Given the description of an element on the screen output the (x, y) to click on. 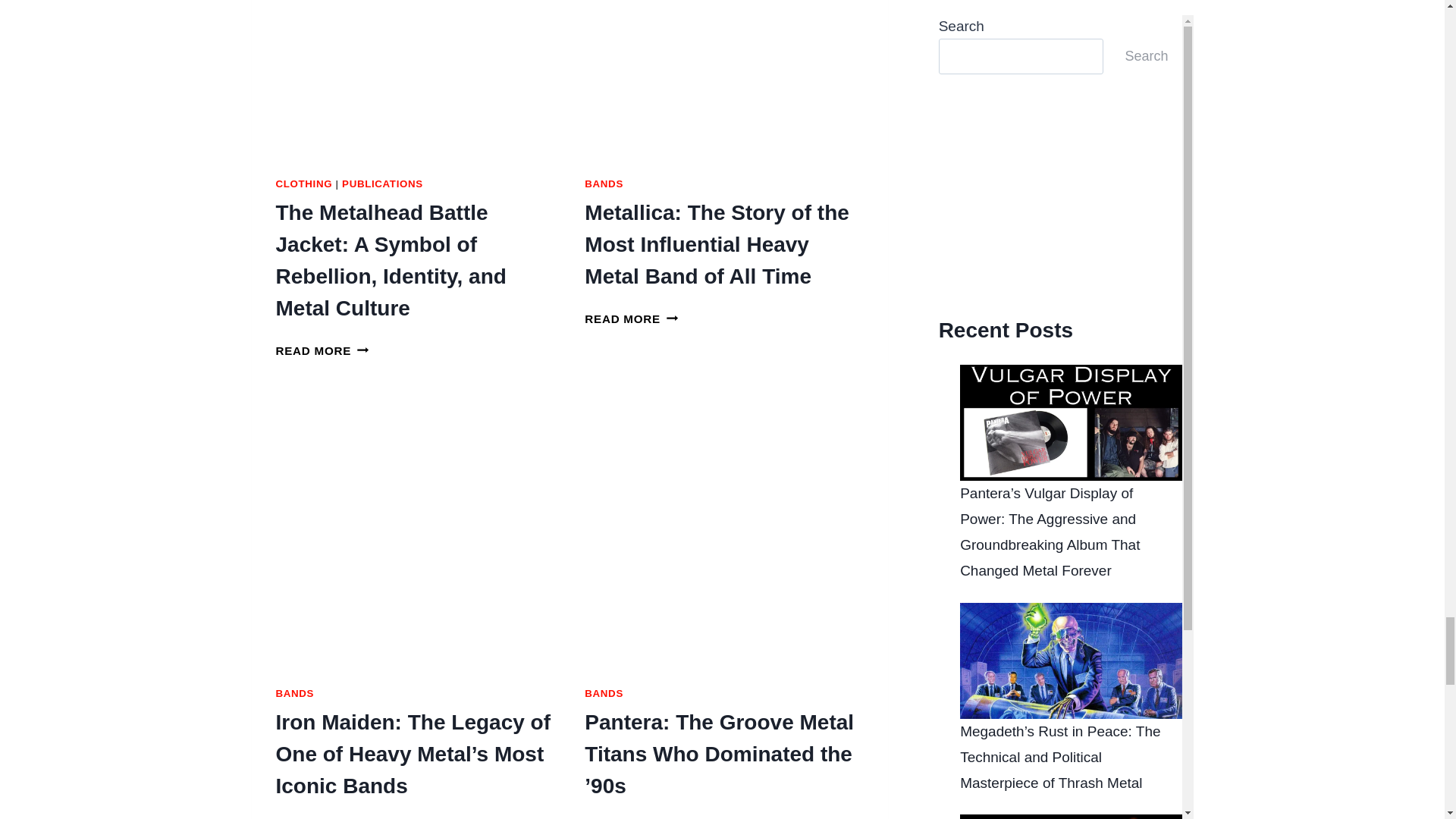
PUBLICATIONS (382, 183)
CLOTHING (304, 183)
